Given the description of an element on the screen output the (x, y) to click on. 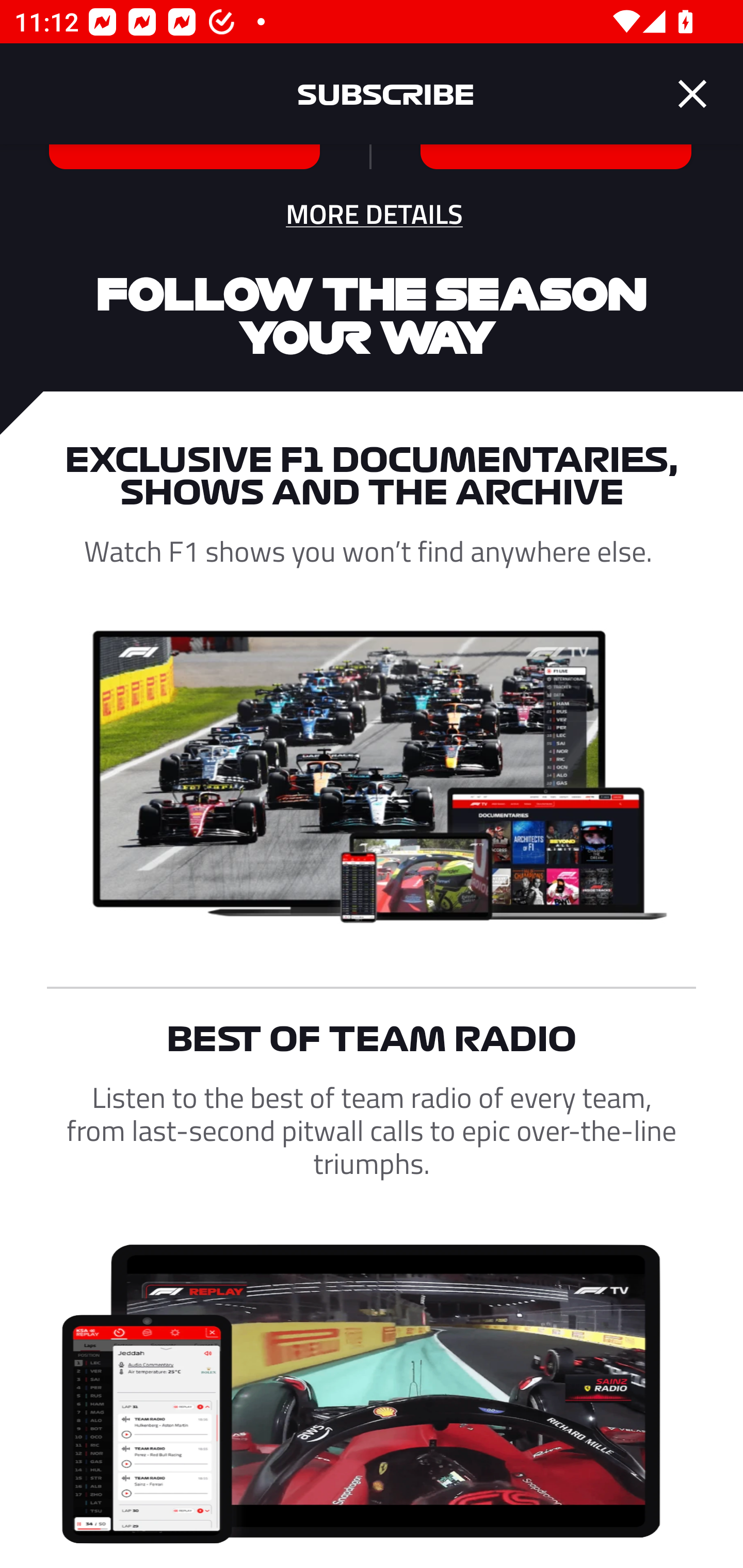
Close (692, 93)
